Given the description of an element on the screen output the (x, y) to click on. 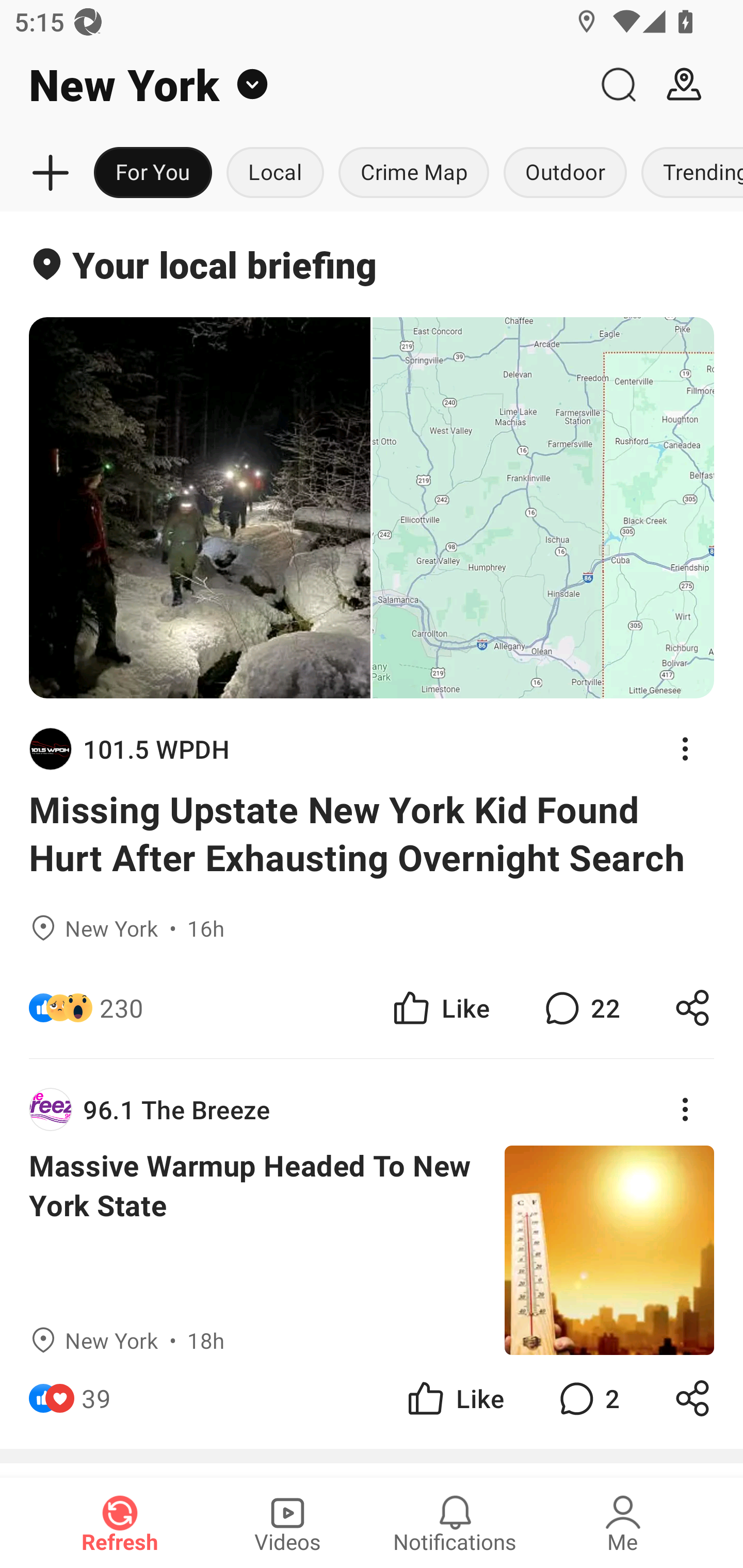
New York (292, 84)
For You (152, 172)
Local (275, 172)
Crime Map (413, 172)
Outdoor (564, 172)
Trending (688, 172)
230 (121, 1007)
Like (439, 1007)
22 (579, 1007)
39 (95, 1397)
Like (454, 1397)
2 (587, 1397)
Videos (287, 1522)
Notifications (455, 1522)
Me (622, 1522)
